Given the description of an element on the screen output the (x, y) to click on. 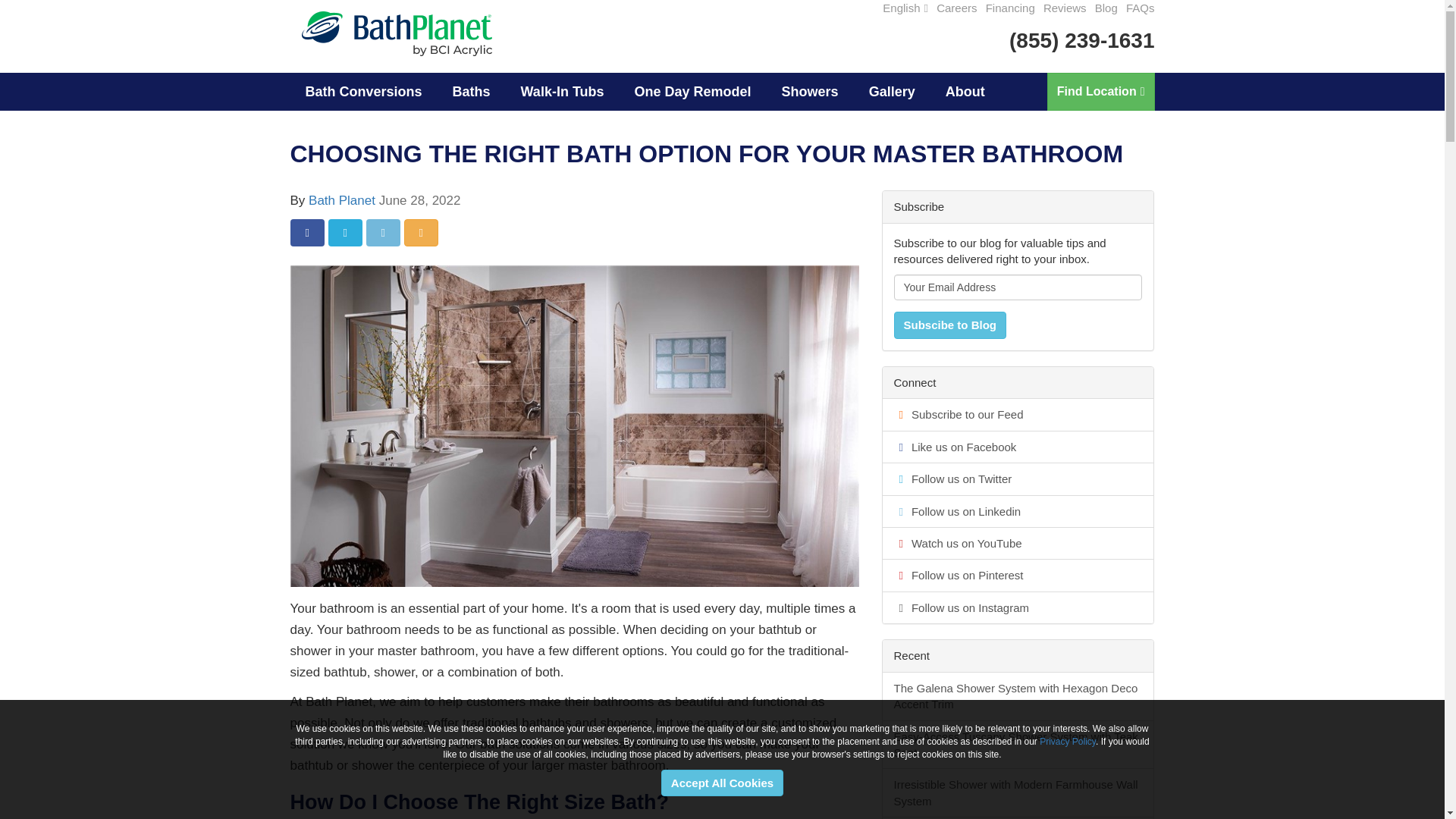
Blog (1106, 7)
Walk-In Tubs (562, 91)
Reviews (1064, 7)
Baths (471, 91)
Financing (1010, 7)
Careers (956, 7)
Showers (810, 91)
English (905, 7)
FAQs (1139, 7)
One Day Remodel (693, 91)
Bath Conversions (362, 91)
